Given the description of an element on the screen output the (x, y) to click on. 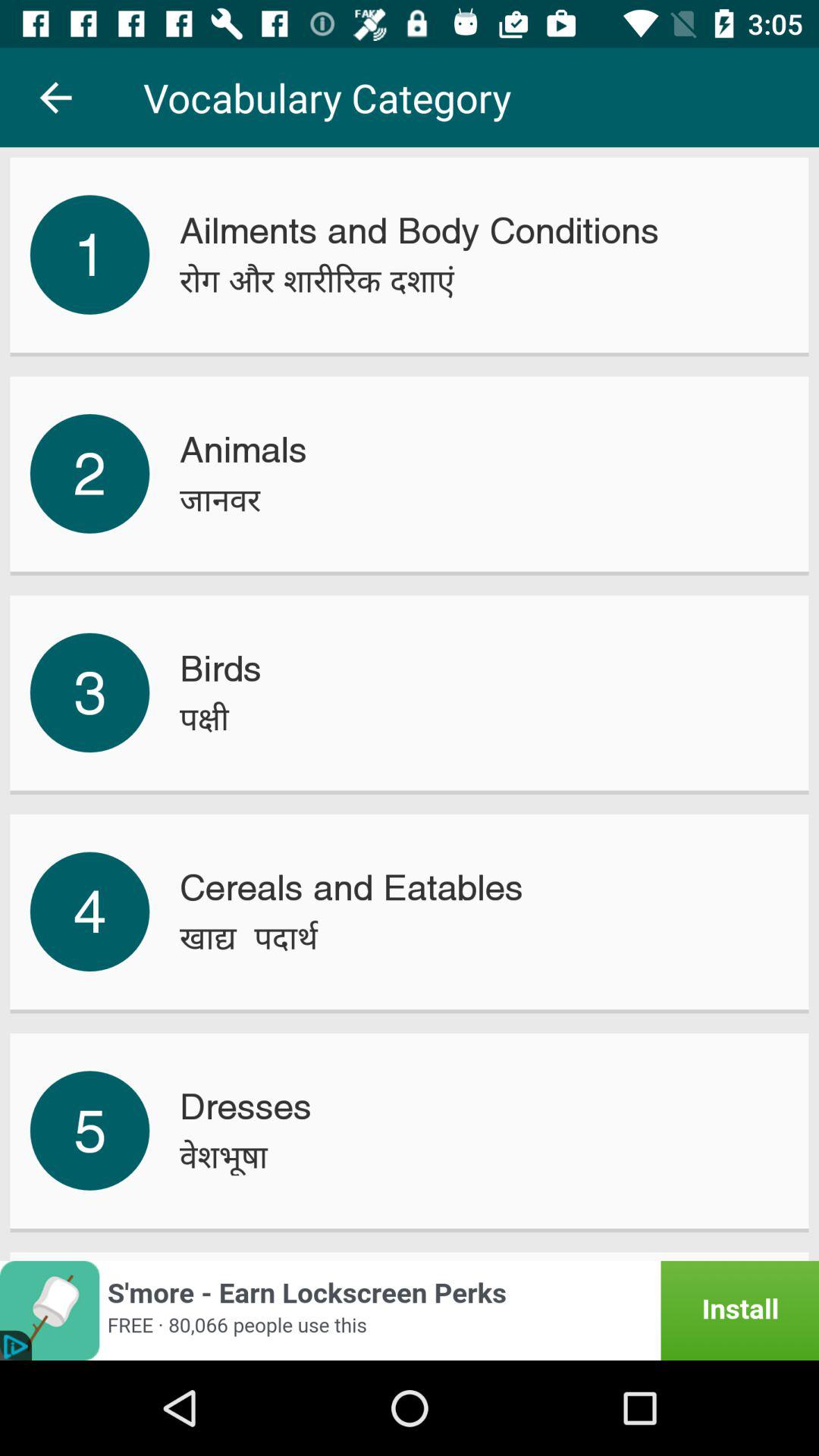
click advertisement (409, 1310)
